Given the description of an element on the screen output the (x, y) to click on. 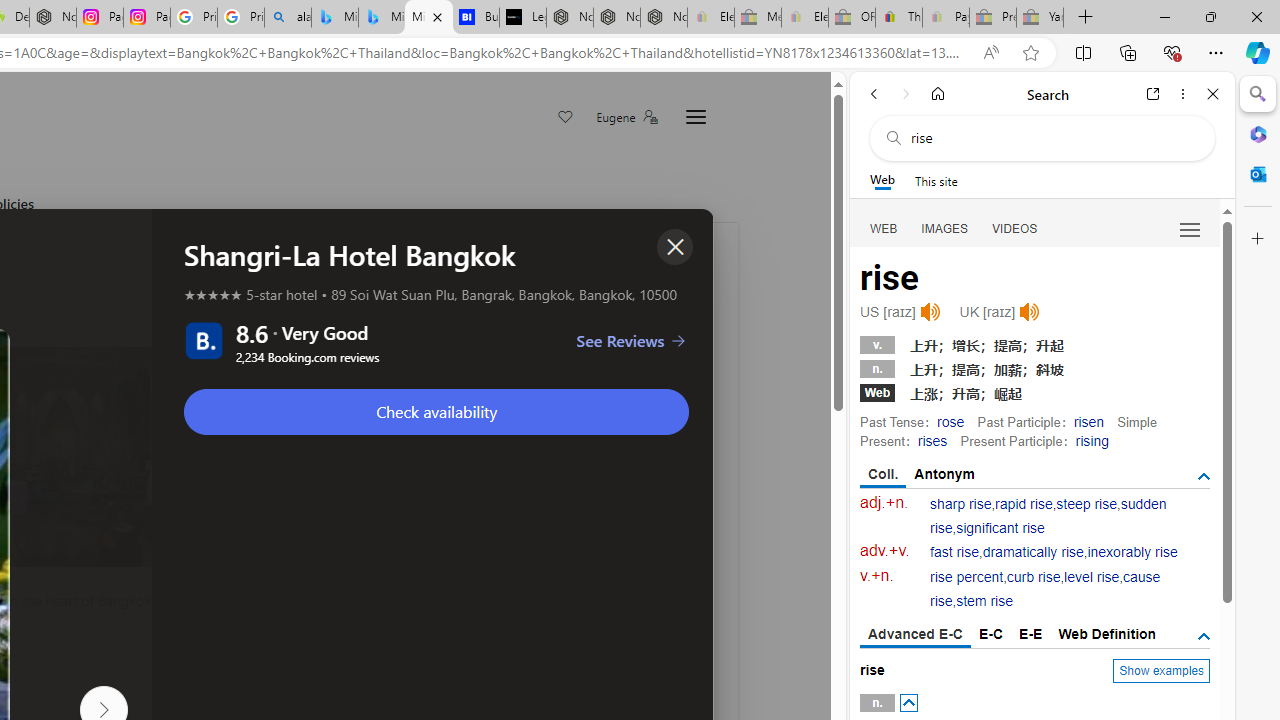
risen (1088, 421)
sudden rise (1048, 515)
sharp rise (961, 503)
Click to listen (1029, 312)
